Given the description of an element on the screen output the (x, y) to click on. 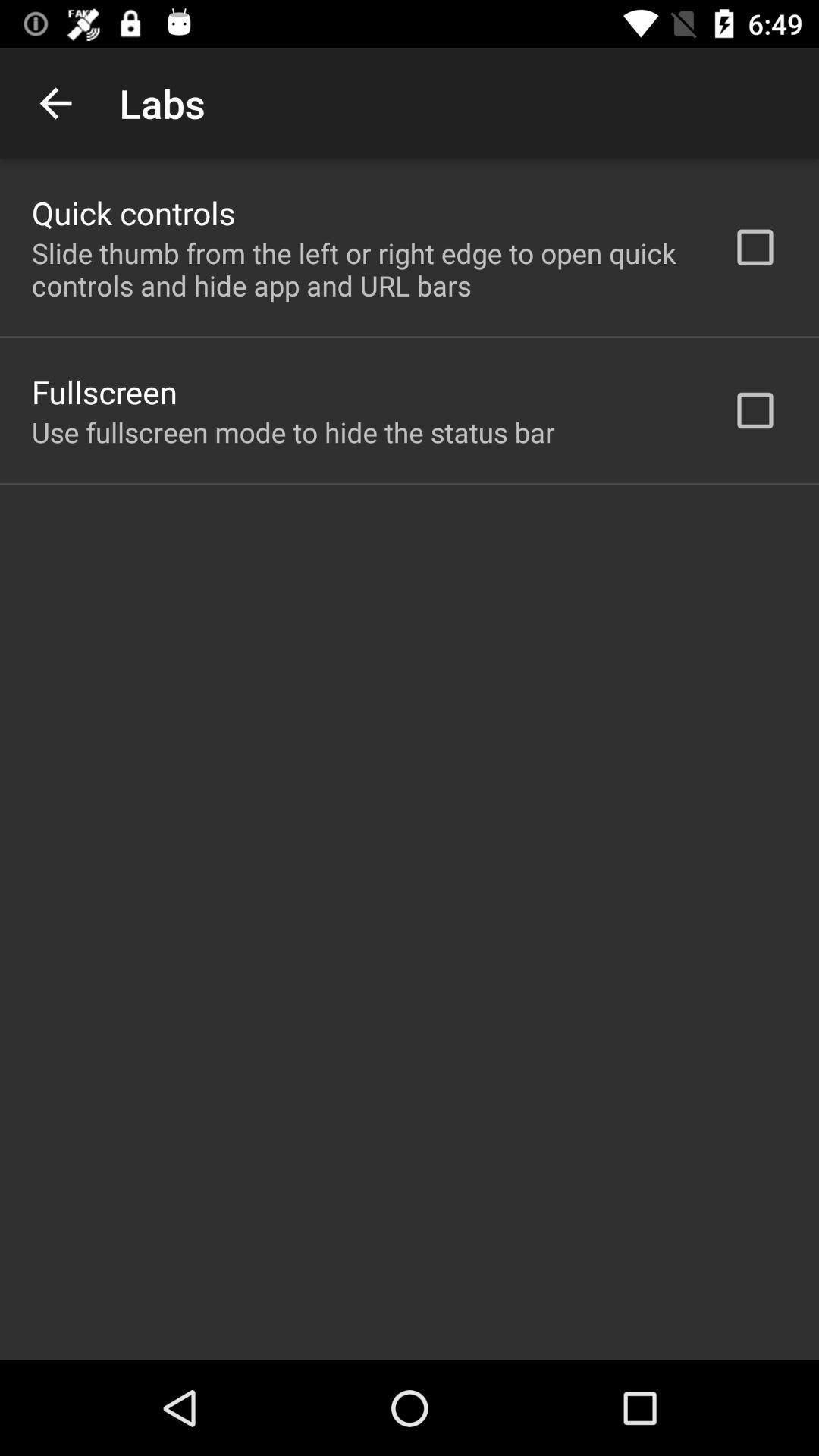
turn on the app above quick controls app (55, 103)
